Given the description of an element on the screen output the (x, y) to click on. 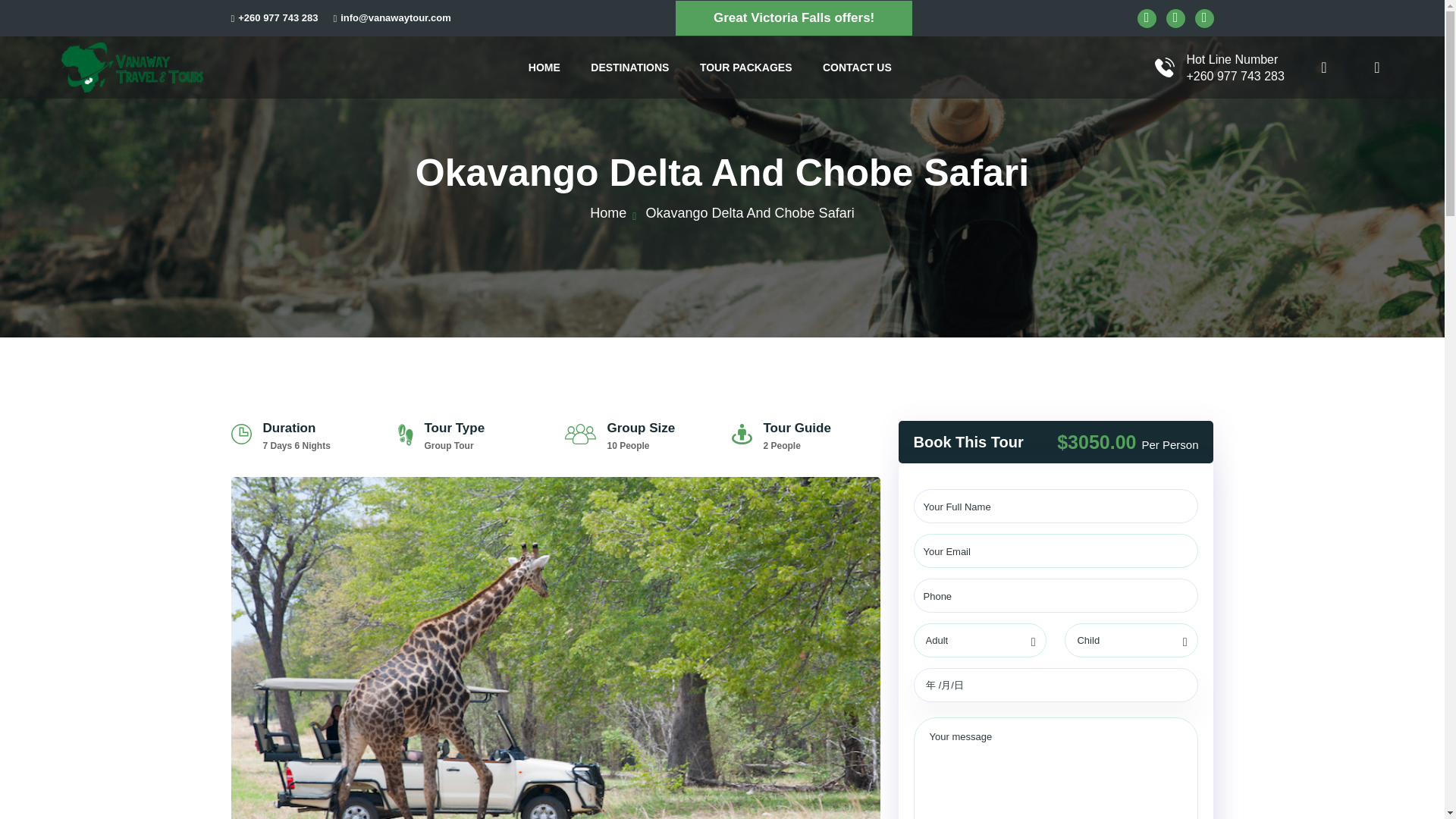
HOME (544, 67)
CONTACT US (856, 67)
Great Victoria Falls offers! (793, 18)
DESTINATIONS (629, 67)
Home (607, 212)
TOUR PACKAGES (746, 67)
